Given the description of an element on the screen output the (x, y) to click on. 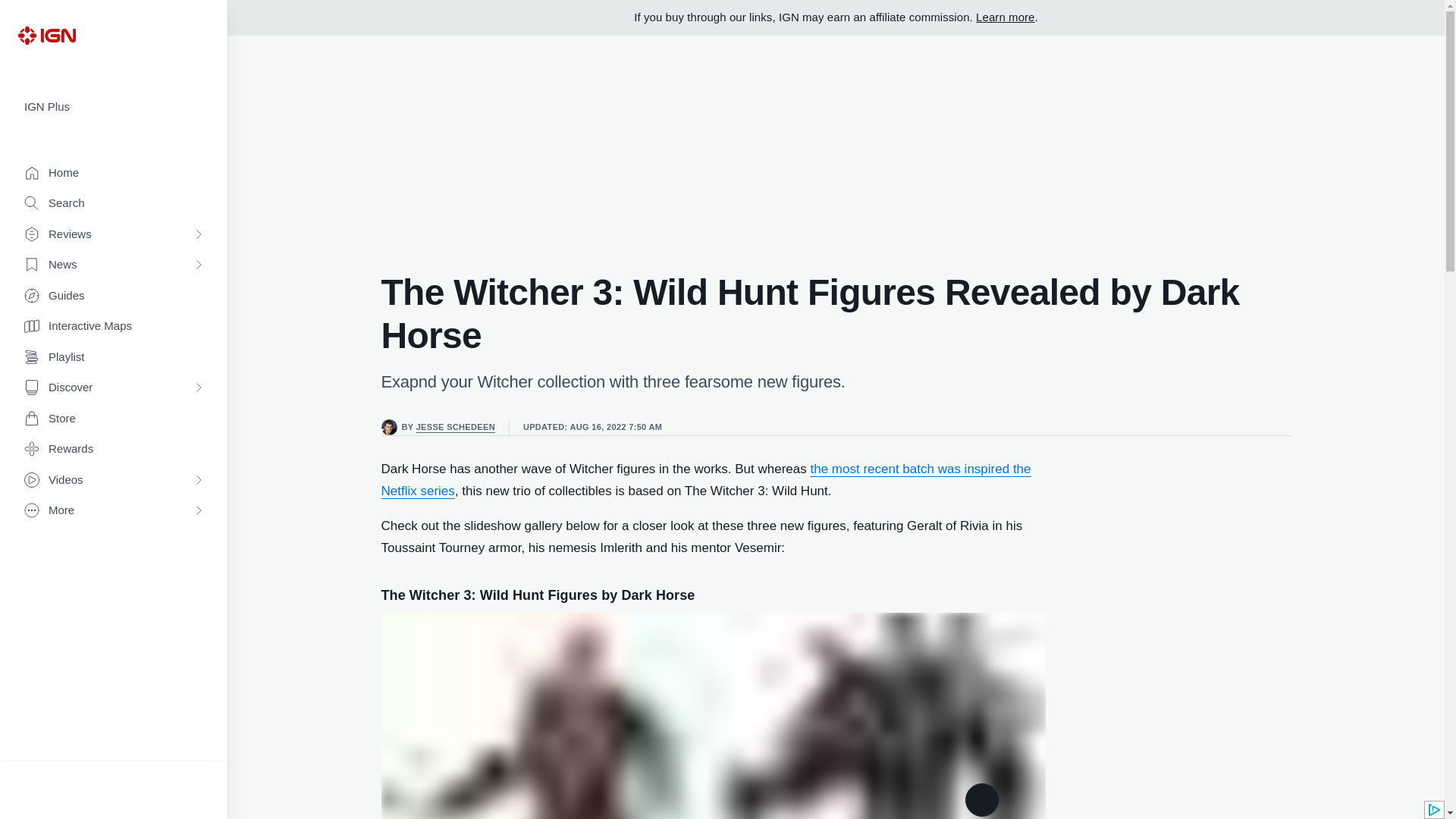
More (113, 510)
News (113, 265)
Rewards (113, 449)
IGN Logo (46, 34)
Videos (113, 480)
Playlist (113, 357)
IGN (46, 35)
Home (113, 172)
Interactive Maps (113, 326)
Playlist (113, 357)
